Given the description of an element on the screen output the (x, y) to click on. 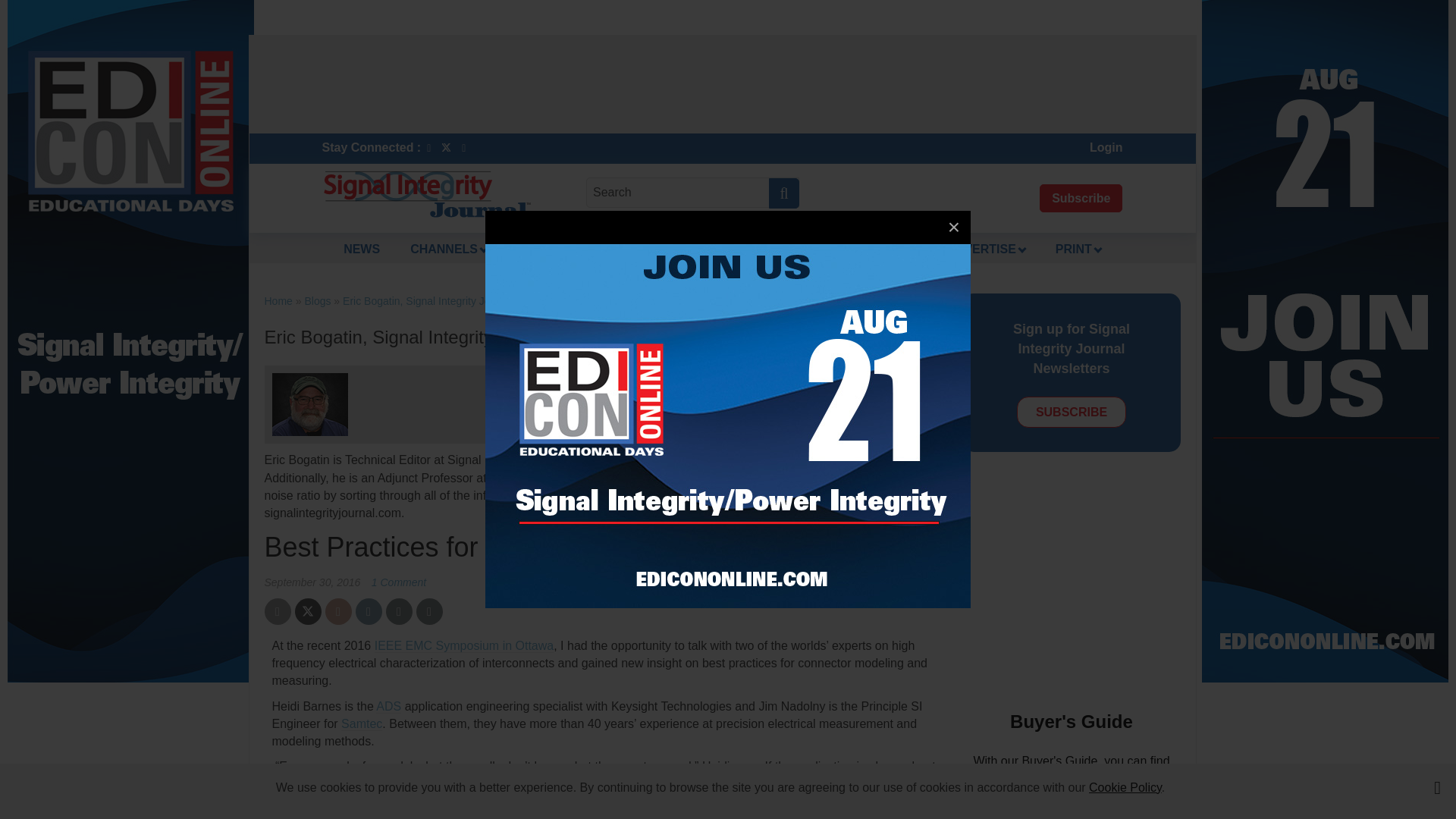
3rd party ad content (721, 83)
3rd party ad content (1087, 586)
